Given the description of an element on the screen output the (x, y) to click on. 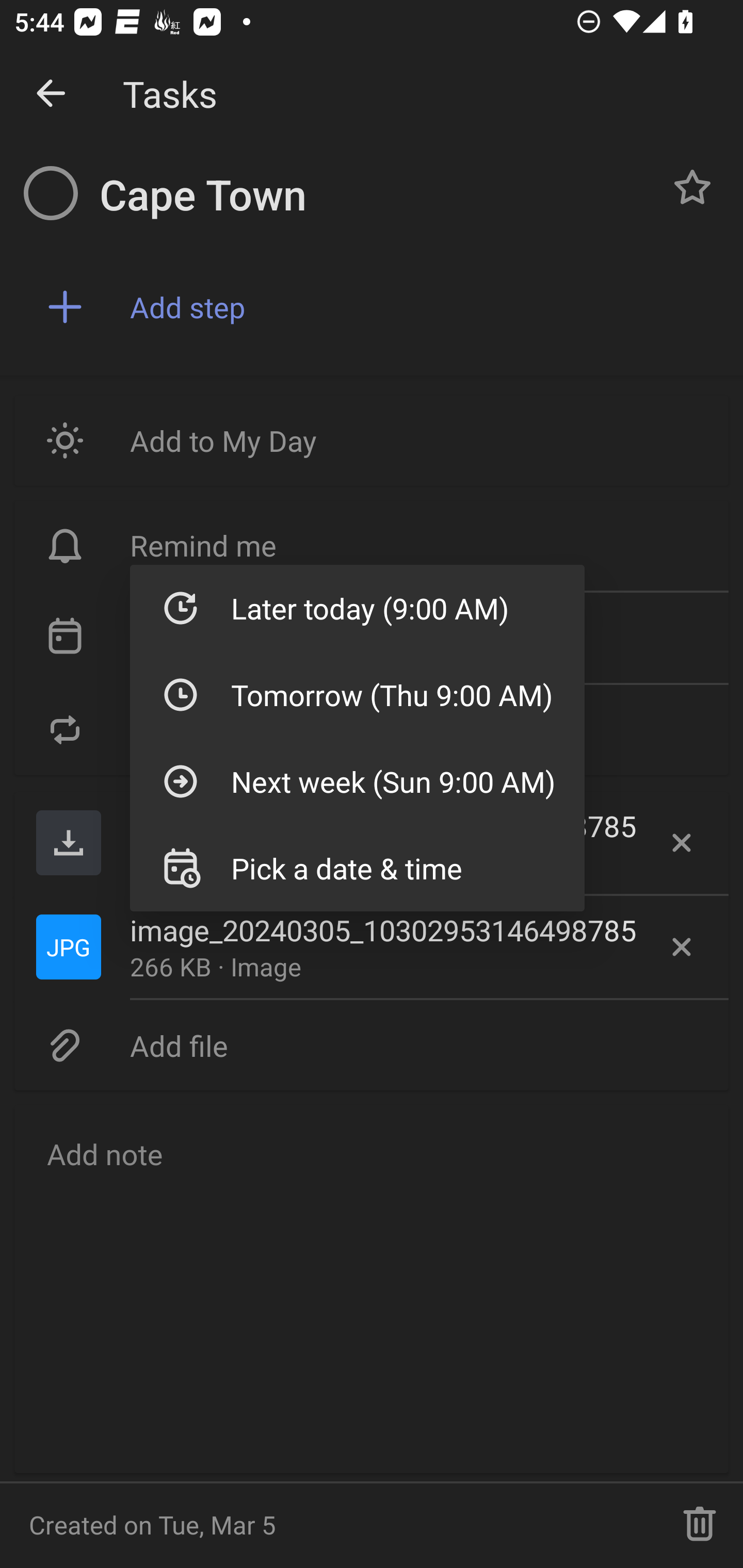
Later today (9:00 AM) (357, 607)
Tomorrow (Thu 9:00 AM) (357, 694)
Next week (Sun 9:00 AM) (357, 781)
Pick a date & time (357, 867)
